Given the description of an element on the screen output the (x, y) to click on. 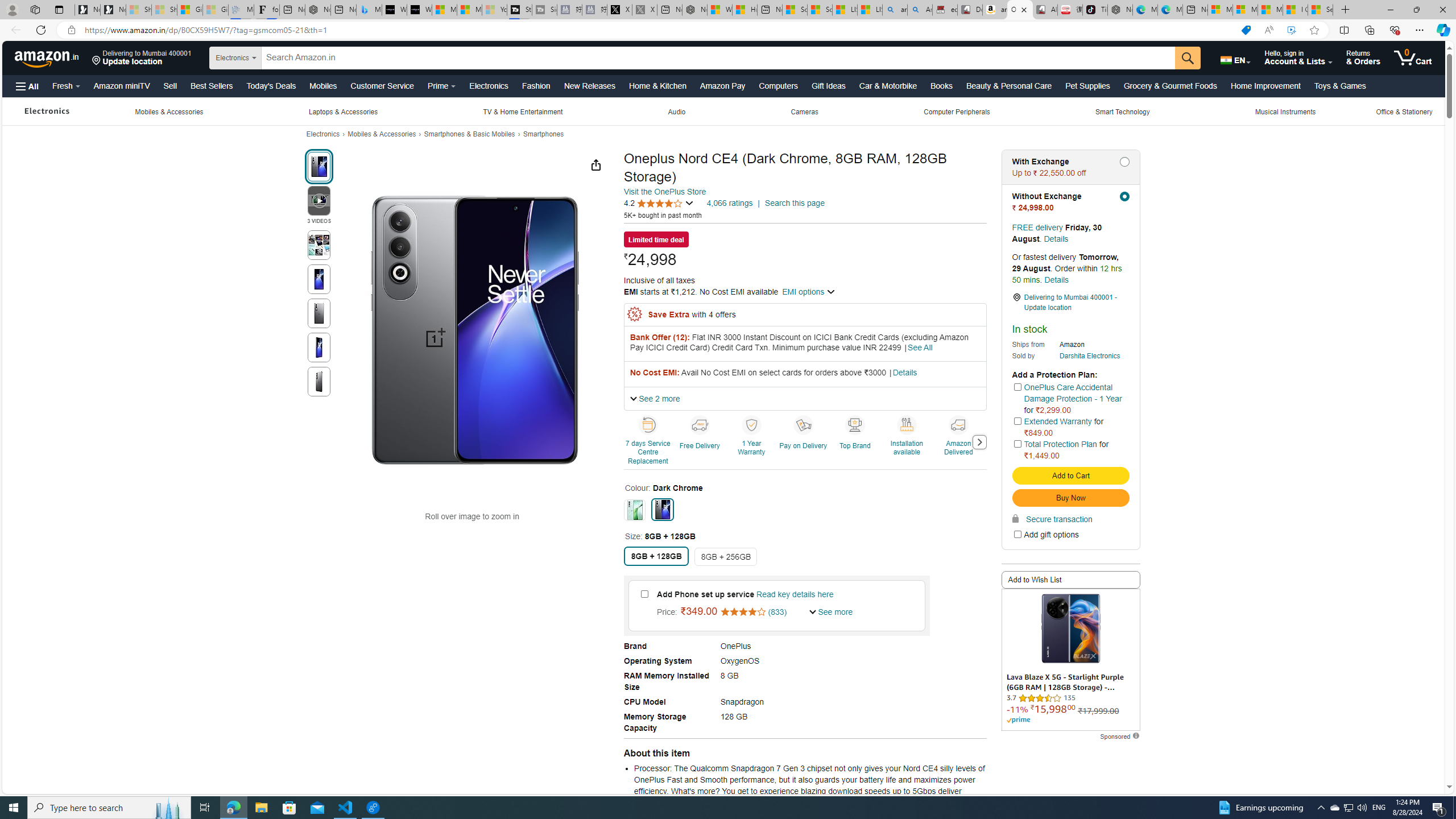
Best Sellers (211, 85)
EMI options  (808, 291)
Address and search bar (658, 29)
Huge shark washes ashore at New York City beach | Watch (744, 9)
7 days Service Centre Replacement (649, 441)
Installation available  (906, 424)
Savings indicator icon (634, 314)
